Given the description of an element on the screen output the (x, y) to click on. 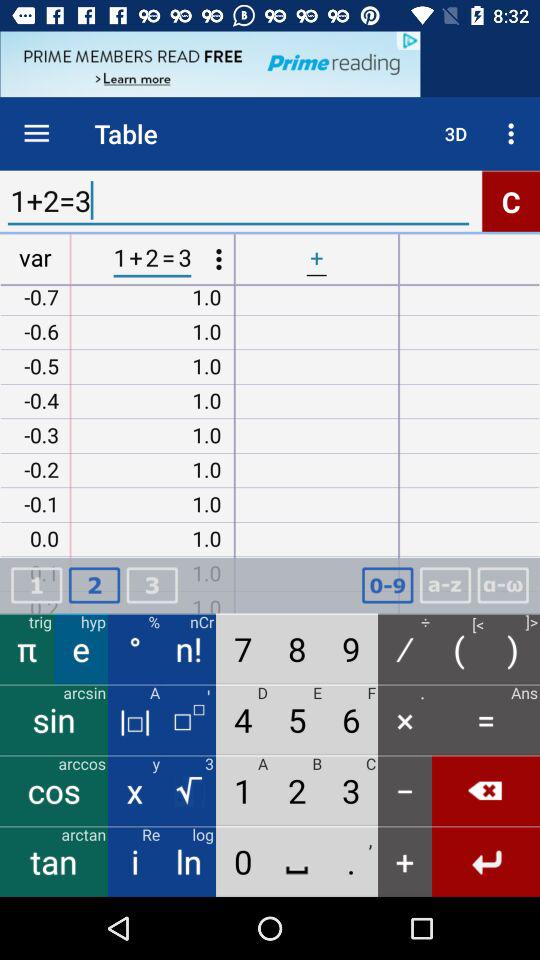
trey (152, 585)
